Given the description of an element on the screen output the (x, y) to click on. 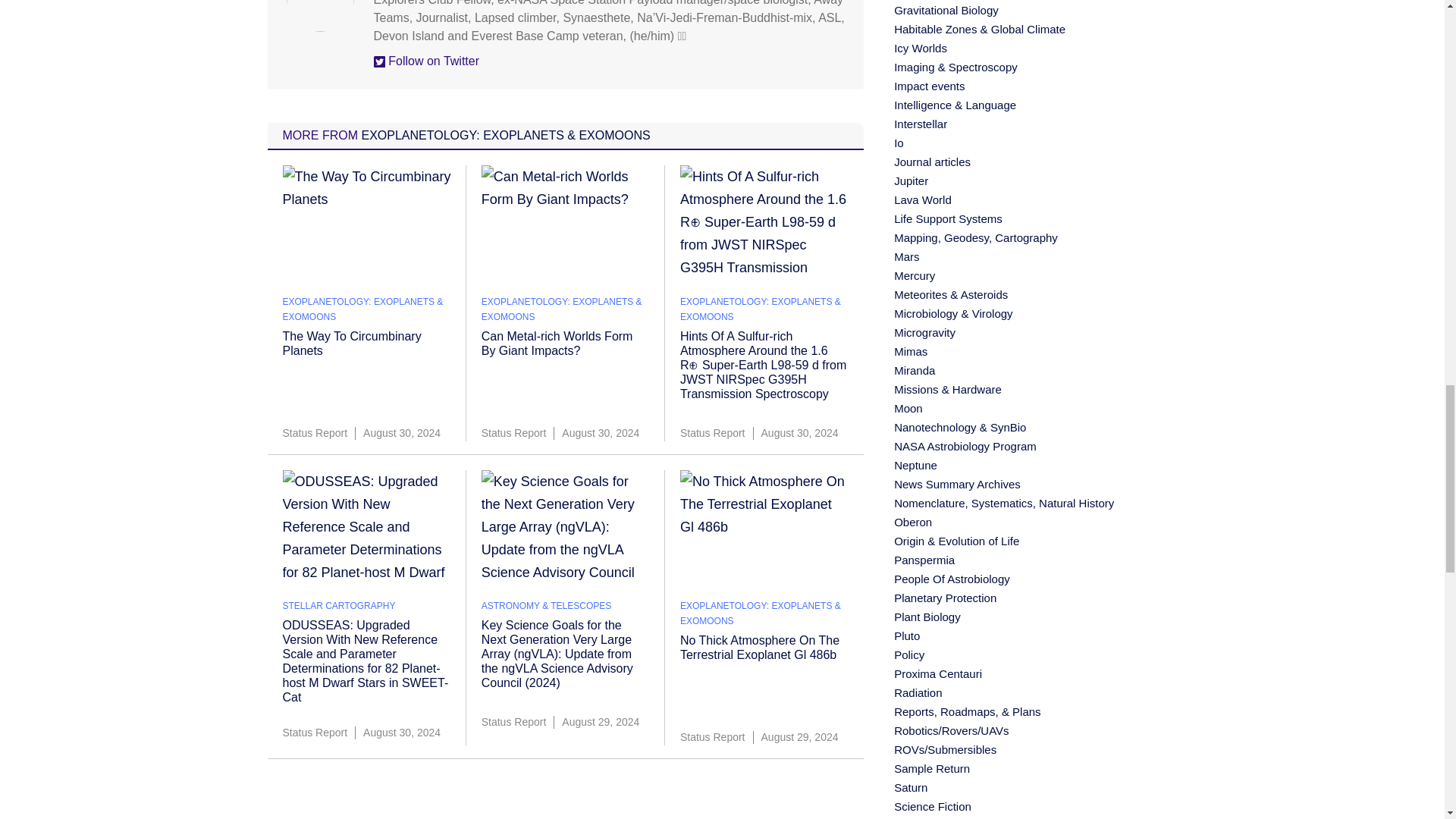
Follow on Twitter (425, 60)
Can Metal-rich Worlds Form By Giant Impacts? (557, 343)
The Way To Circumbinary Planets (351, 343)
